Given the description of an element on the screen output the (x, y) to click on. 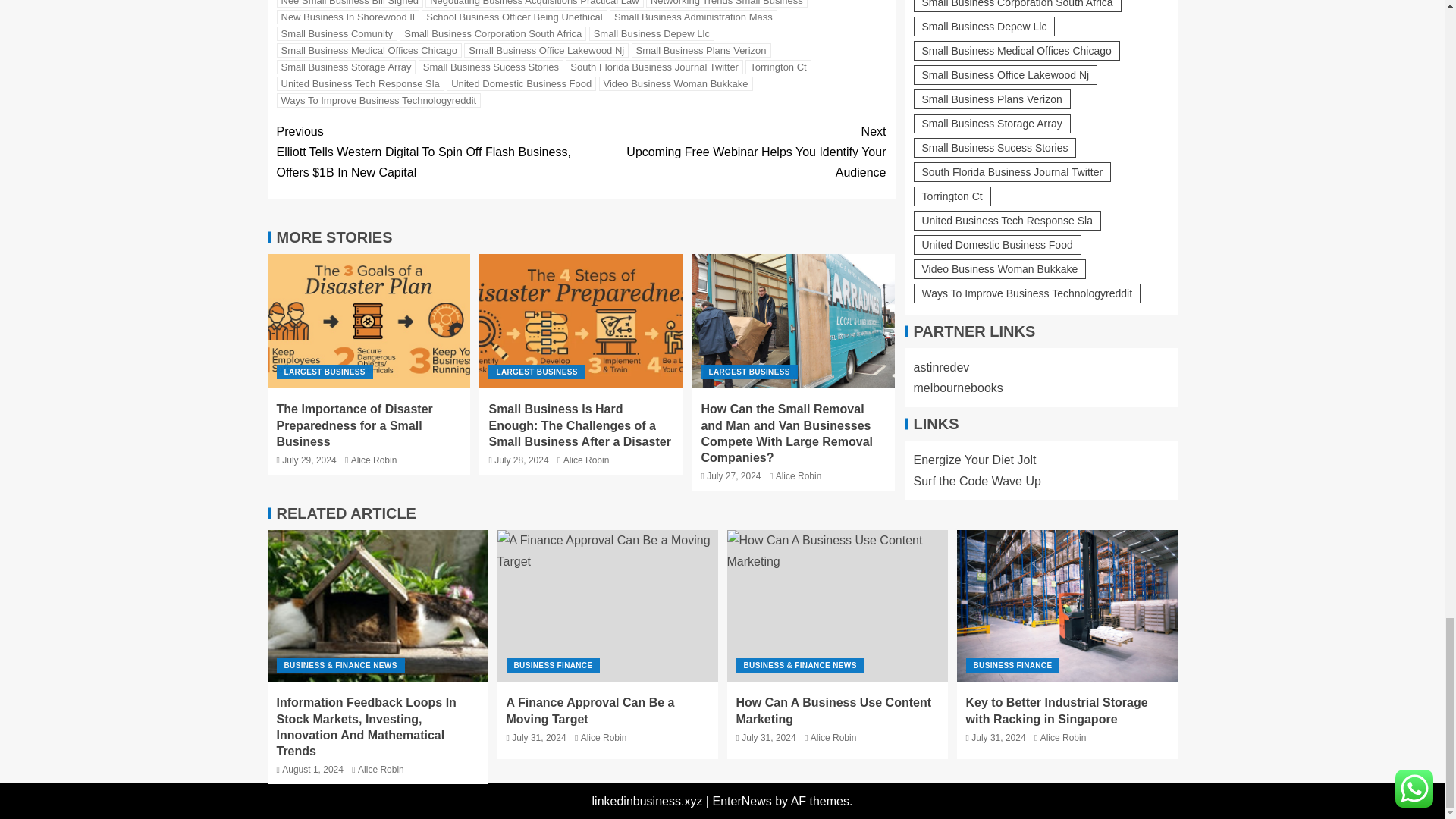
How Can A Business Use Content Marketing (836, 605)
Key to Better Industrial Storage with Racking in Singapore (1066, 605)
The Importance of Disaster Preparedness for a Small Business (368, 320)
A Finance Approval Can Be a Moving Target (607, 605)
